Given the description of an element on the screen output the (x, y) to click on. 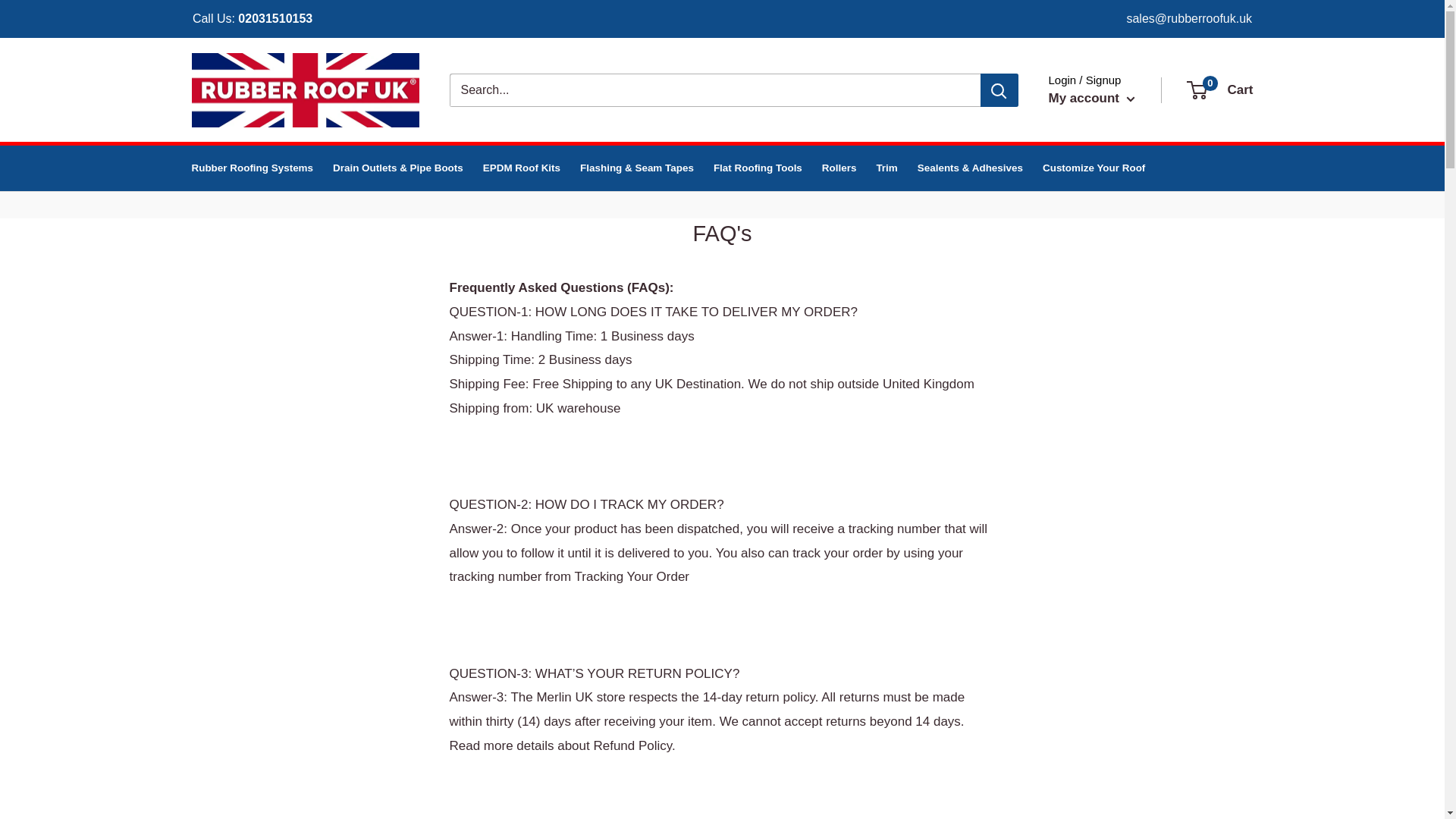
02031510153 (1220, 89)
EPDM Roof Kits (275, 18)
Trim (521, 167)
My account (886, 167)
Rubber Roofing Systems (1091, 98)
Customize Your Roof (251, 167)
Flat Roofing Tools (1093, 167)
Rubber Roof UK (757, 167)
Rollers (304, 90)
